Given the description of an element on the screen output the (x, y) to click on. 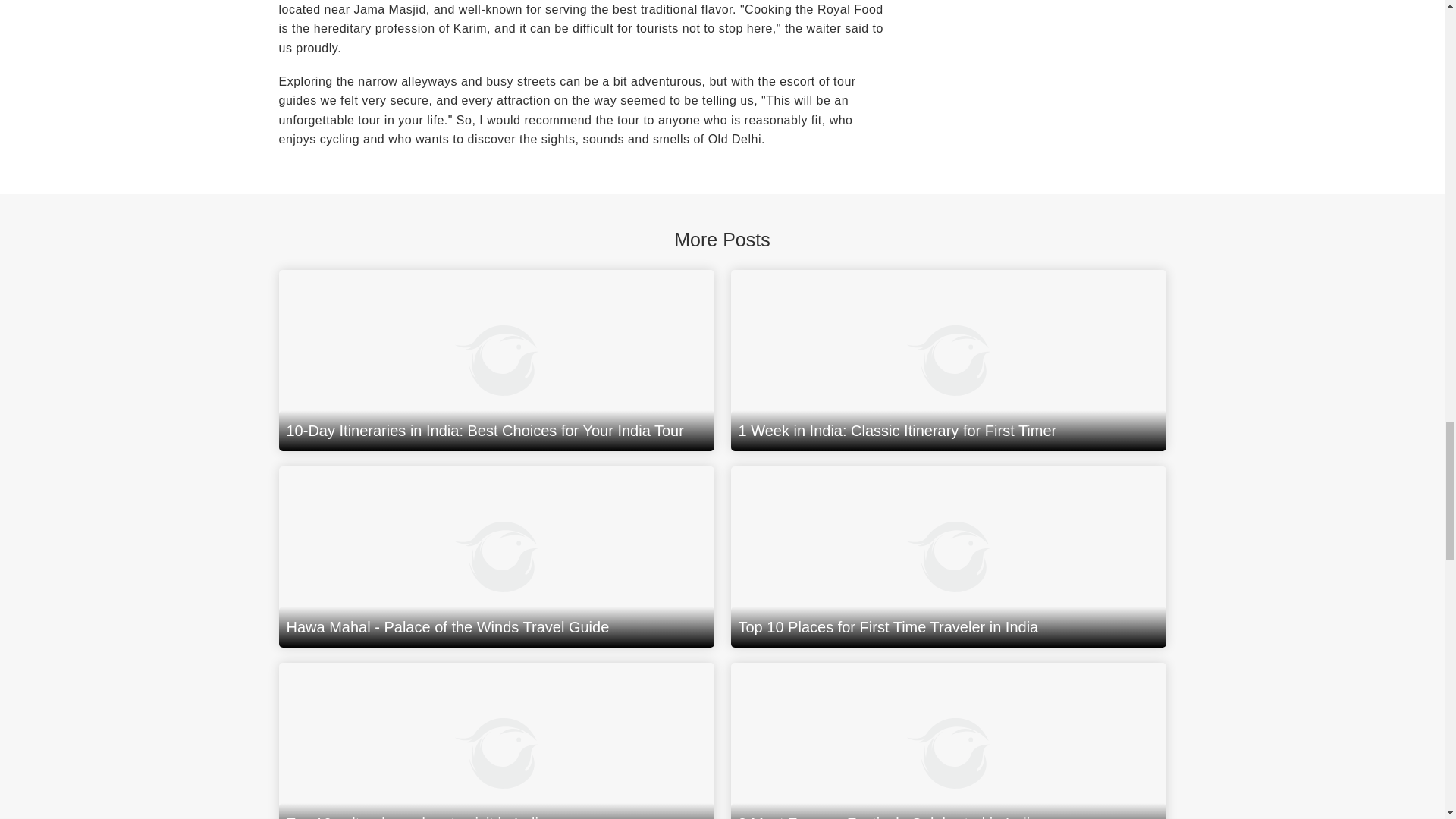
Hawa Mahal - Palace of the Winds Travel Guide (496, 556)
1 Week in India: Classic Itinerary for First Timer (948, 360)
